Given the description of an element on the screen output the (x, y) to click on. 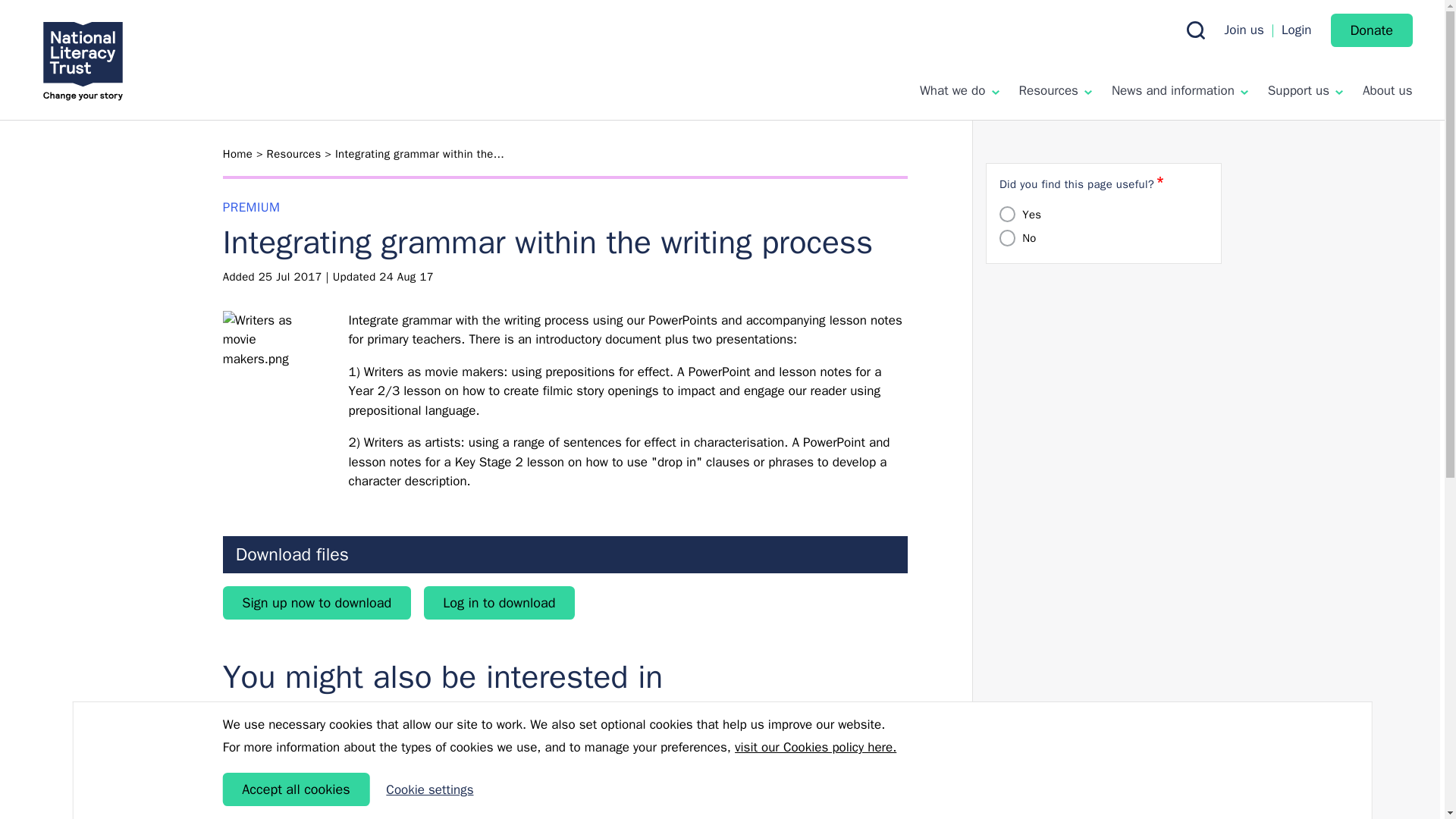
What we do (959, 90)
Donate (1371, 29)
1 (1006, 213)
visit our Cookies policy here. (815, 747)
Cookie settings (429, 790)
2 (1006, 237)
News and information (1179, 90)
Join us (1243, 29)
Login (1296, 29)
Resources (1054, 90)
